Given the description of an element on the screen output the (x, y) to click on. 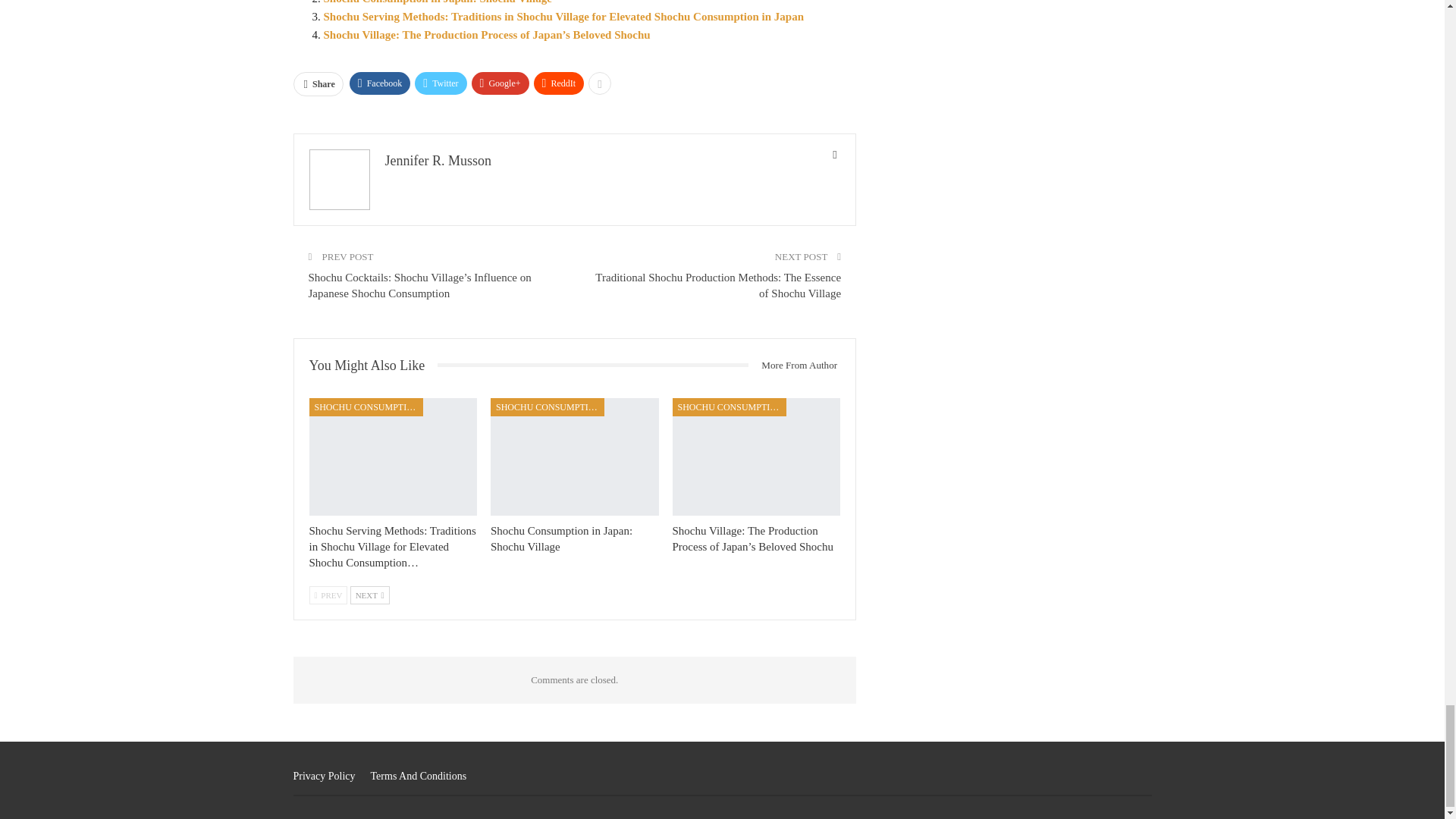
Facebook (379, 83)
Twitter (439, 83)
Next (370, 595)
Previous (327, 595)
Shochu Consumption in Japan: Shochu Village (560, 538)
ReddIt (559, 83)
Shochu Consumption in Japan: Shochu Village (437, 2)
Jennifer R. Musson (438, 160)
Shochu Consumption in Japan: Shochu Village (574, 456)
Shochu Consumption in Japan: Shochu Village (437, 2)
